Given the description of an element on the screen output the (x, y) to click on. 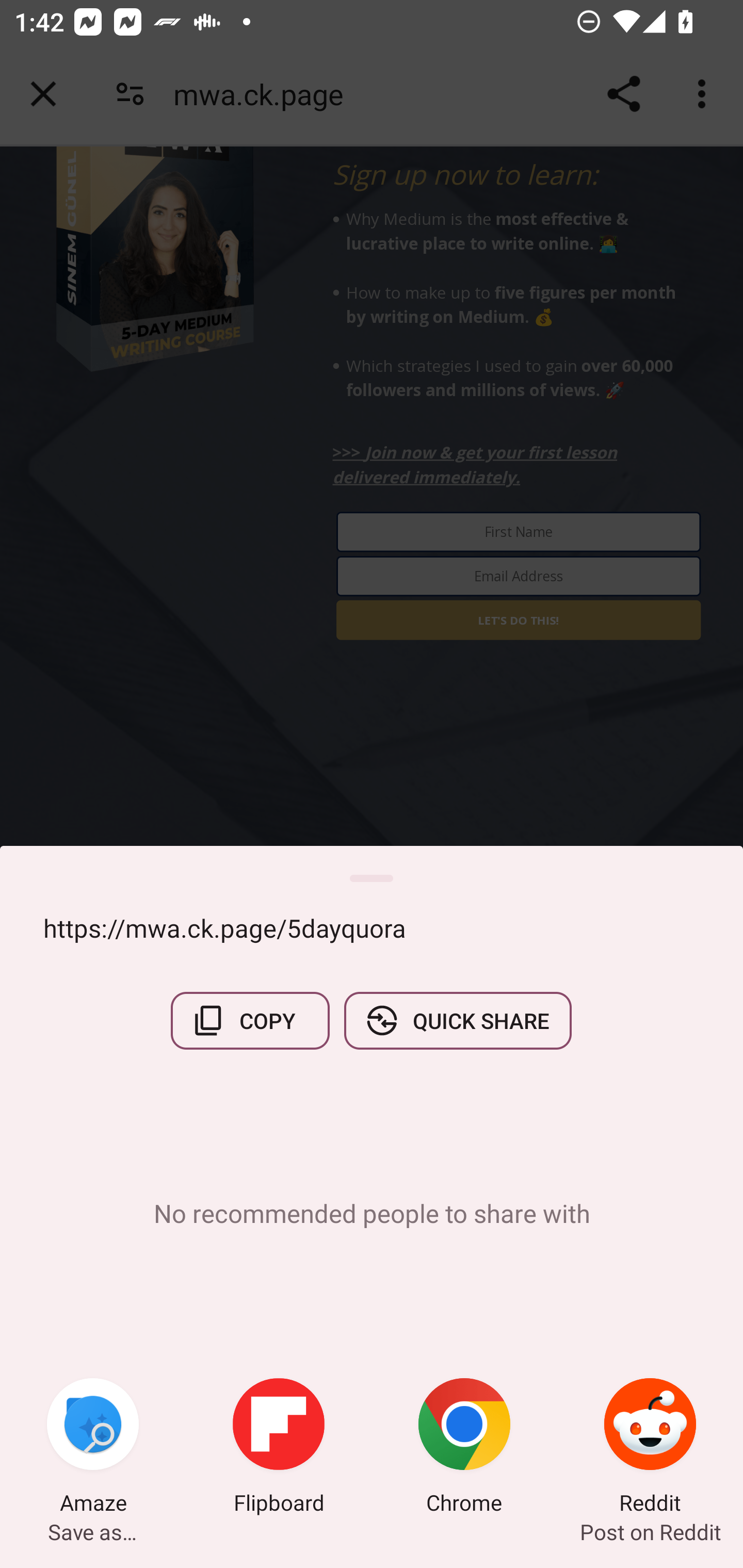
COPY (249, 1020)
QUICK SHARE (457, 1020)
Amaze Save as… (92, 1448)
Flipboard (278, 1448)
Chrome (464, 1448)
Reddit Post on Reddit (650, 1448)
